Given the description of an element on the screen output the (x, y) to click on. 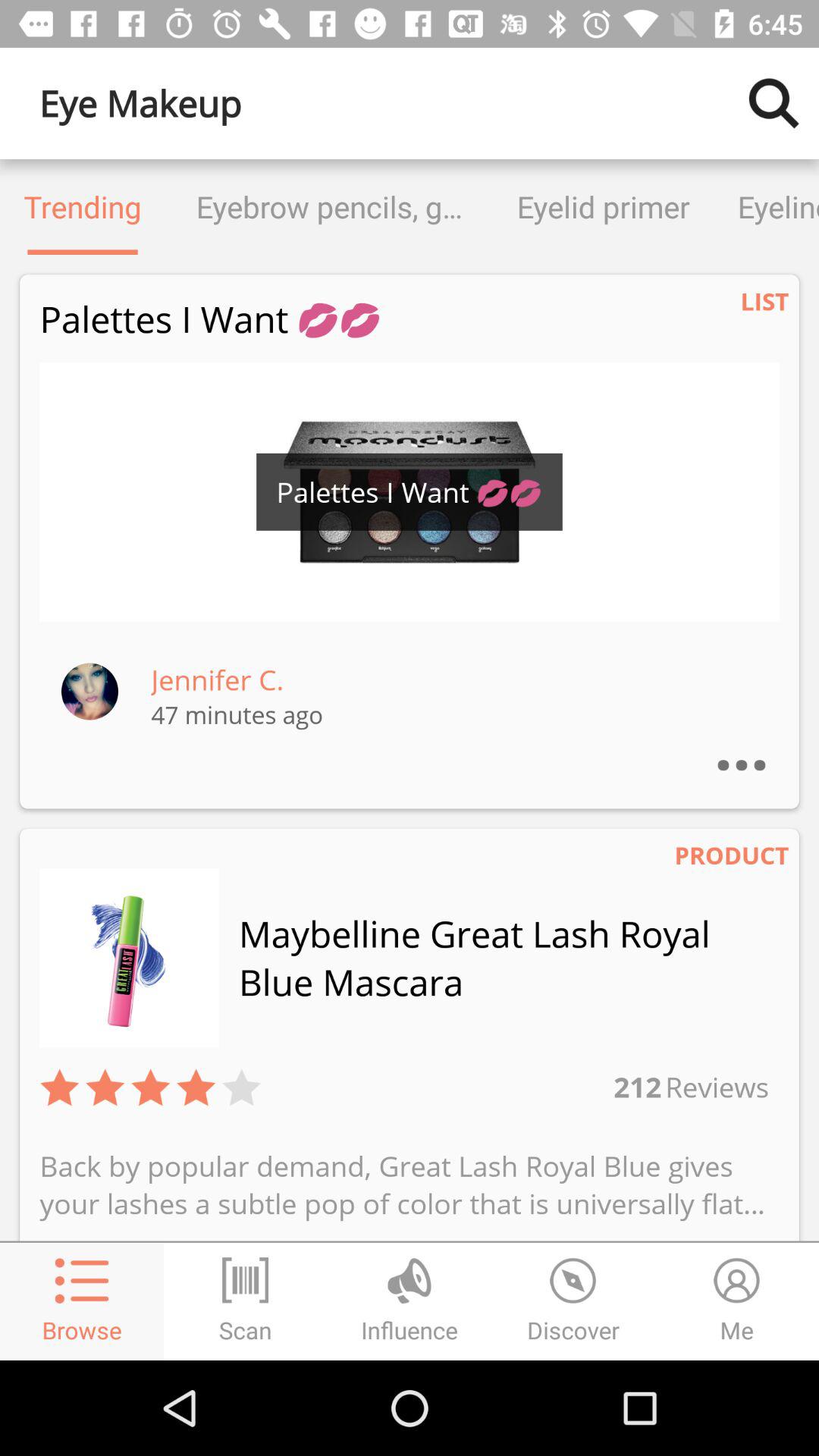
choose the item to the right of the eye makeup item (773, 103)
